Given the description of an element on the screen output the (x, y) to click on. 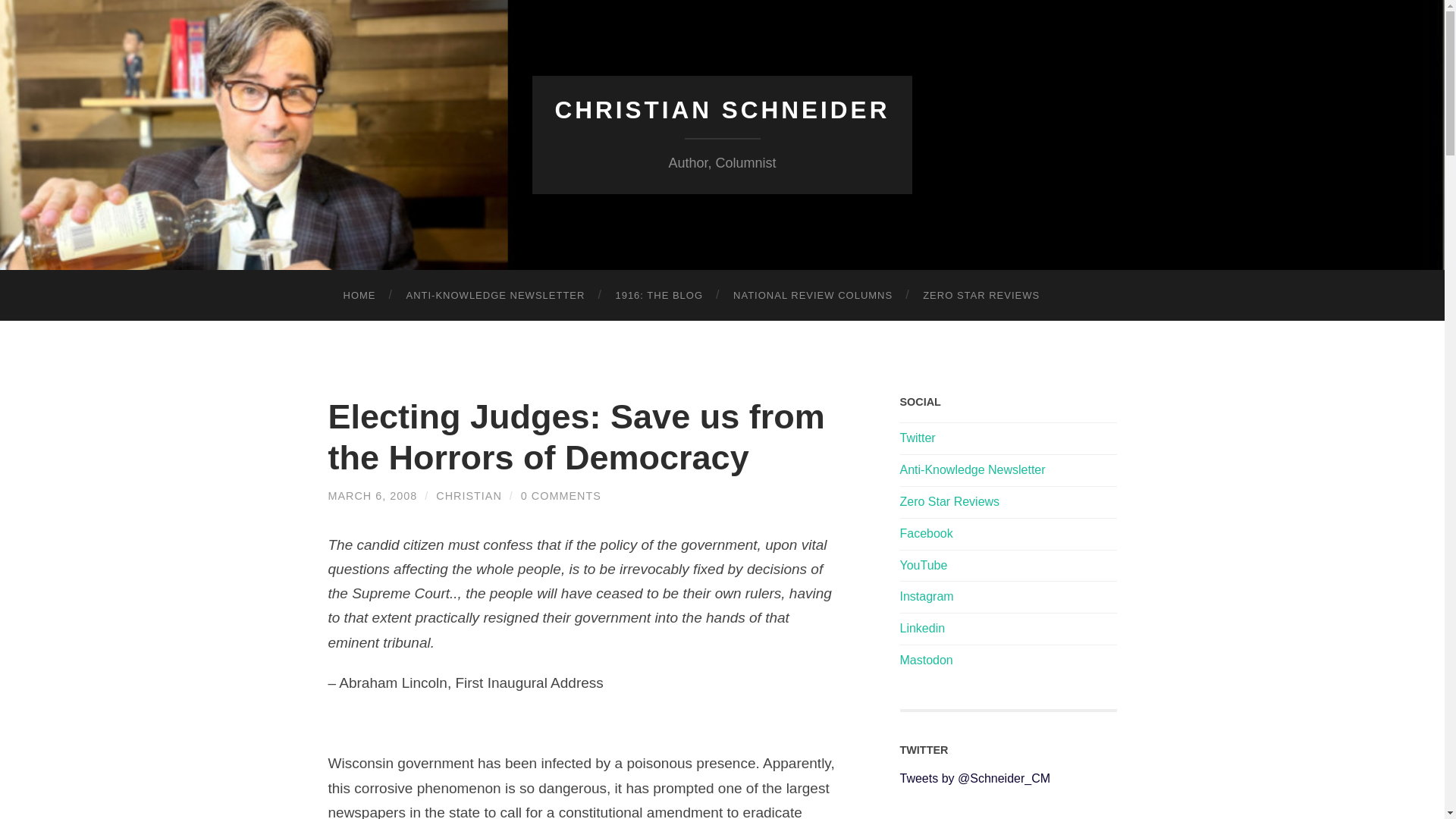
ZERO STAR REVIEWS (980, 295)
Zero Star Reviews (948, 501)
HOME (358, 295)
Facebook (925, 533)
Twitter (916, 437)
Electing Judges: Save us from the Horrors of Democracy (575, 436)
NATIONAL REVIEW COLUMNS (812, 295)
Posts by Christian (468, 495)
ANTI-KNOWLEDGE NEWSLETTER (495, 295)
Anti-Knowledge Newsletter (972, 469)
